Given the description of an element on the screen output the (x, y) to click on. 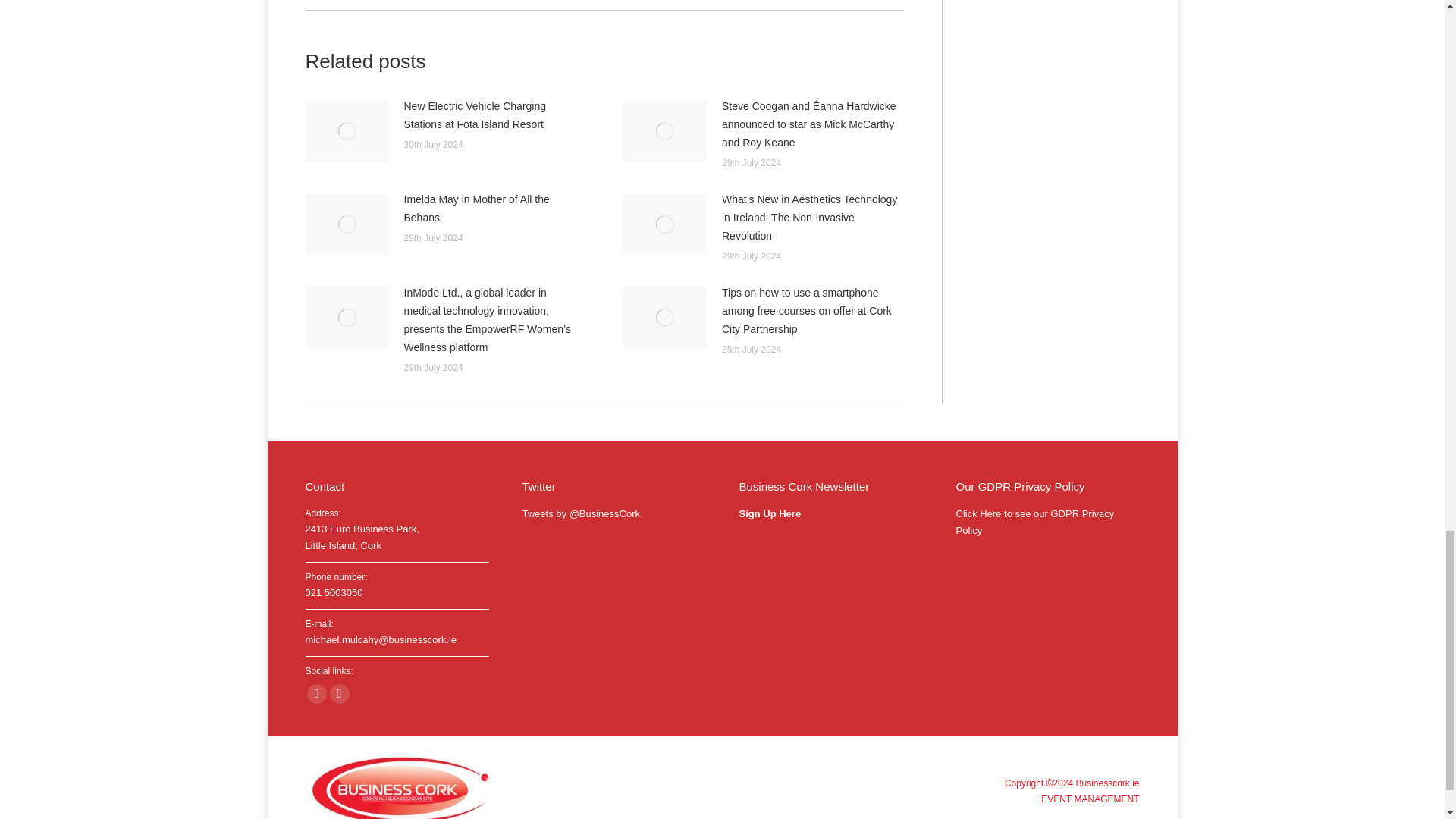
Facebook page opens in new window (315, 693)
